Given the description of an element on the screen output the (x, y) to click on. 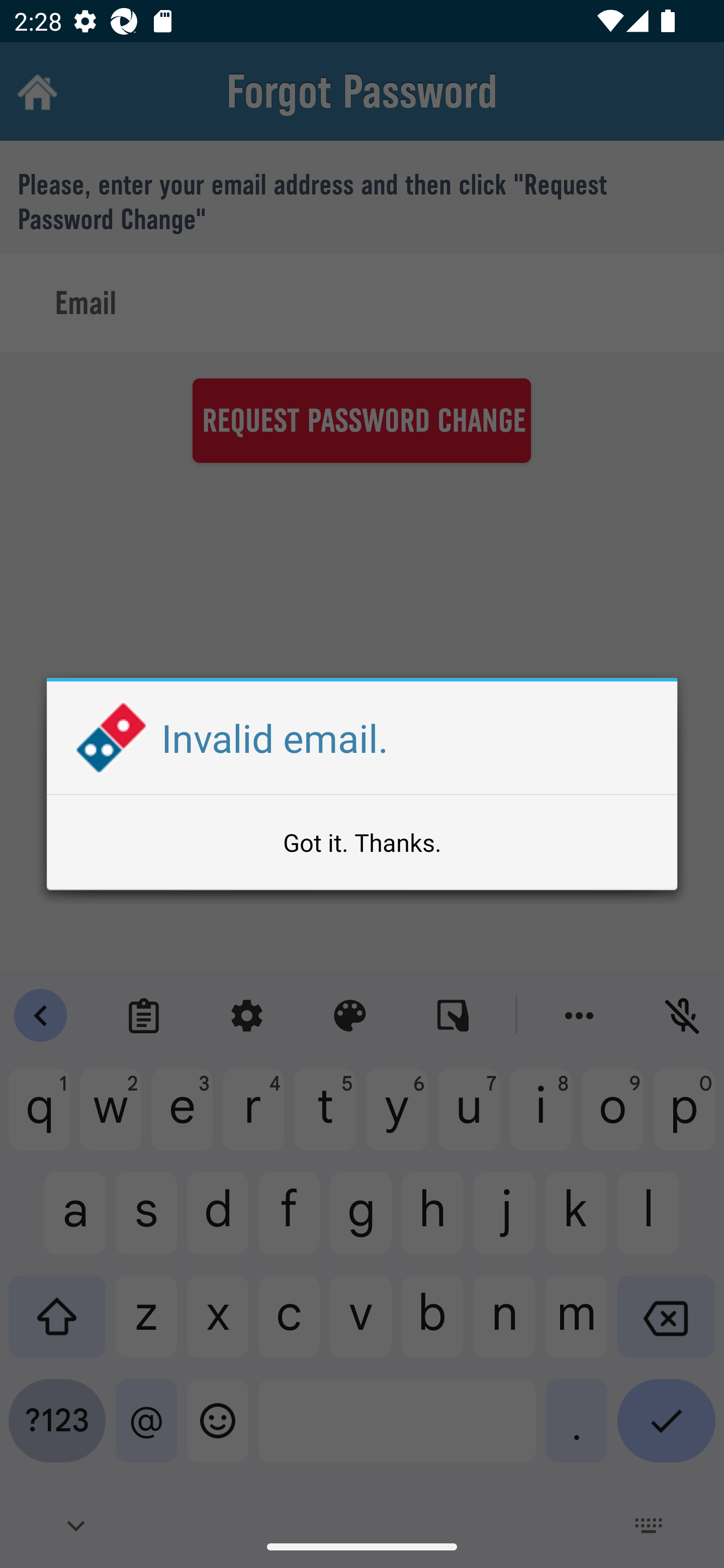
Got it. Thanks. (361, 842)
